Given the description of an element on the screen output the (x, y) to click on. 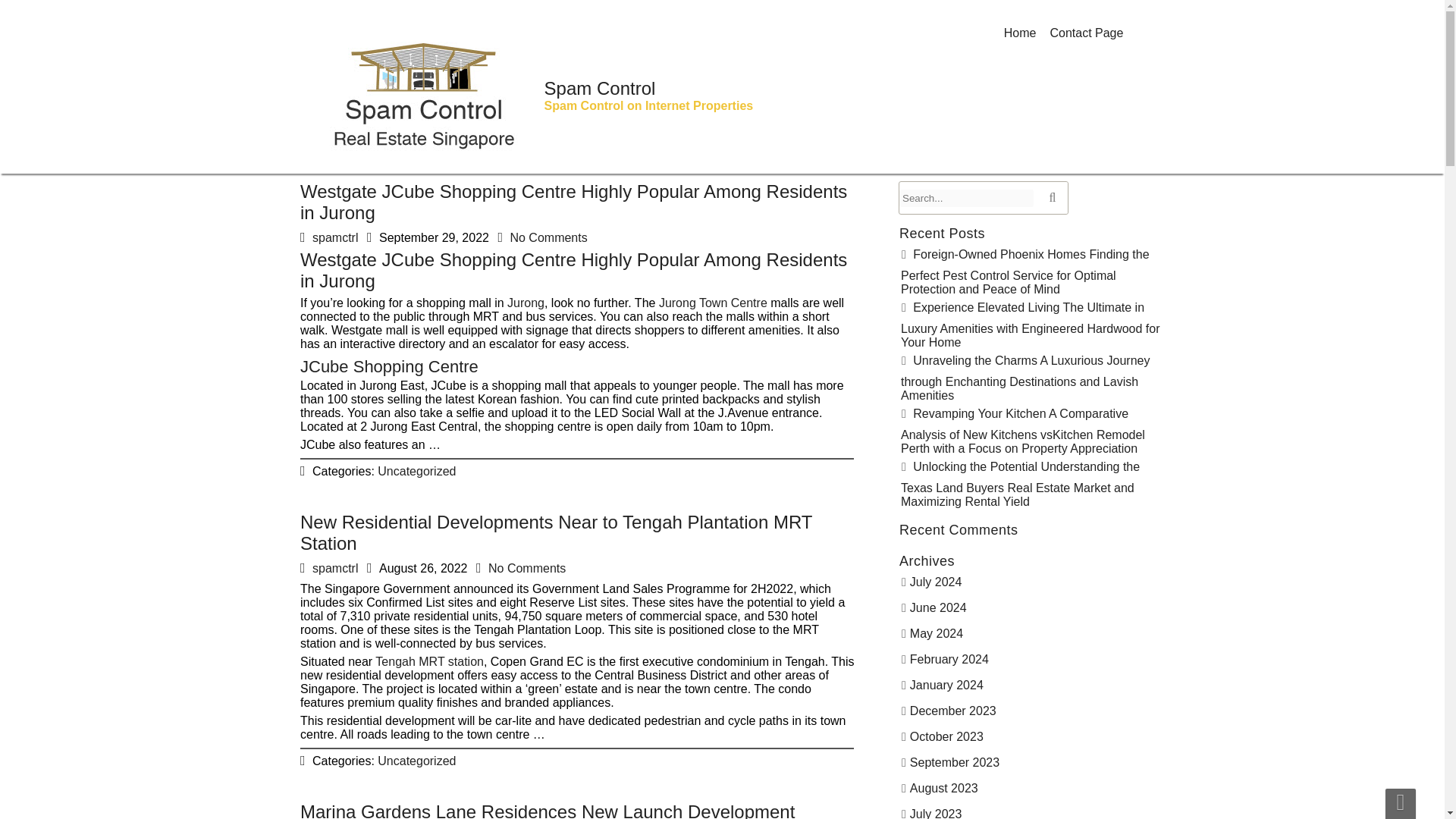
Uncategorized (424, 745)
Home (1020, 33)
spamctrl (389, 239)
Contact Page (1085, 33)
Posts by spamctrl (335, 237)
Jurong (544, 312)
Uncategorized (436, 453)
No Comments (531, 562)
spamctrl (354, 563)
Tengah MRT station (447, 662)
Jurong Town Centre (693, 309)
